Given the description of an element on the screen output the (x, y) to click on. 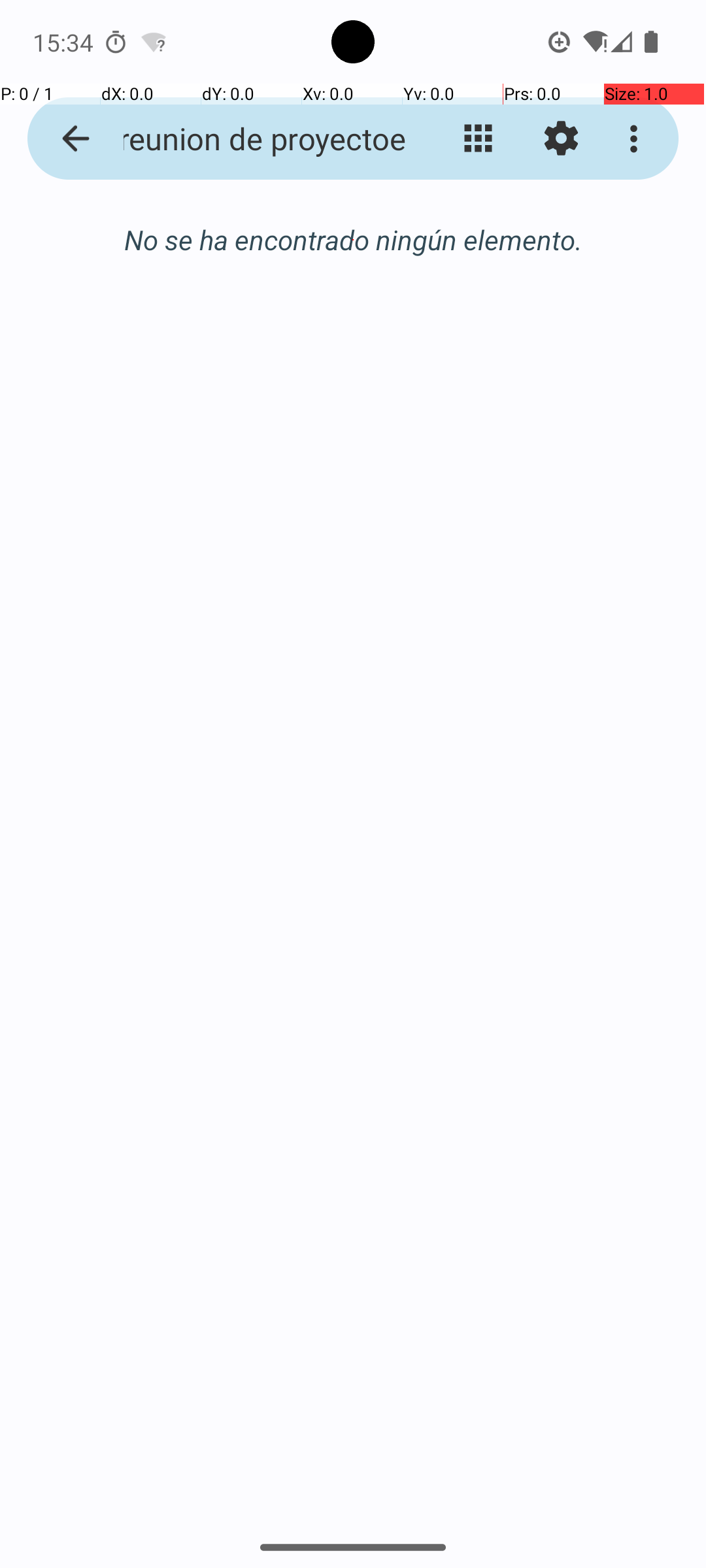
reunion dreunion de proyectoe equipo Element type: android.widget.EditText (252, 138)
